Given the description of an element on the screen output the (x, y) to click on. 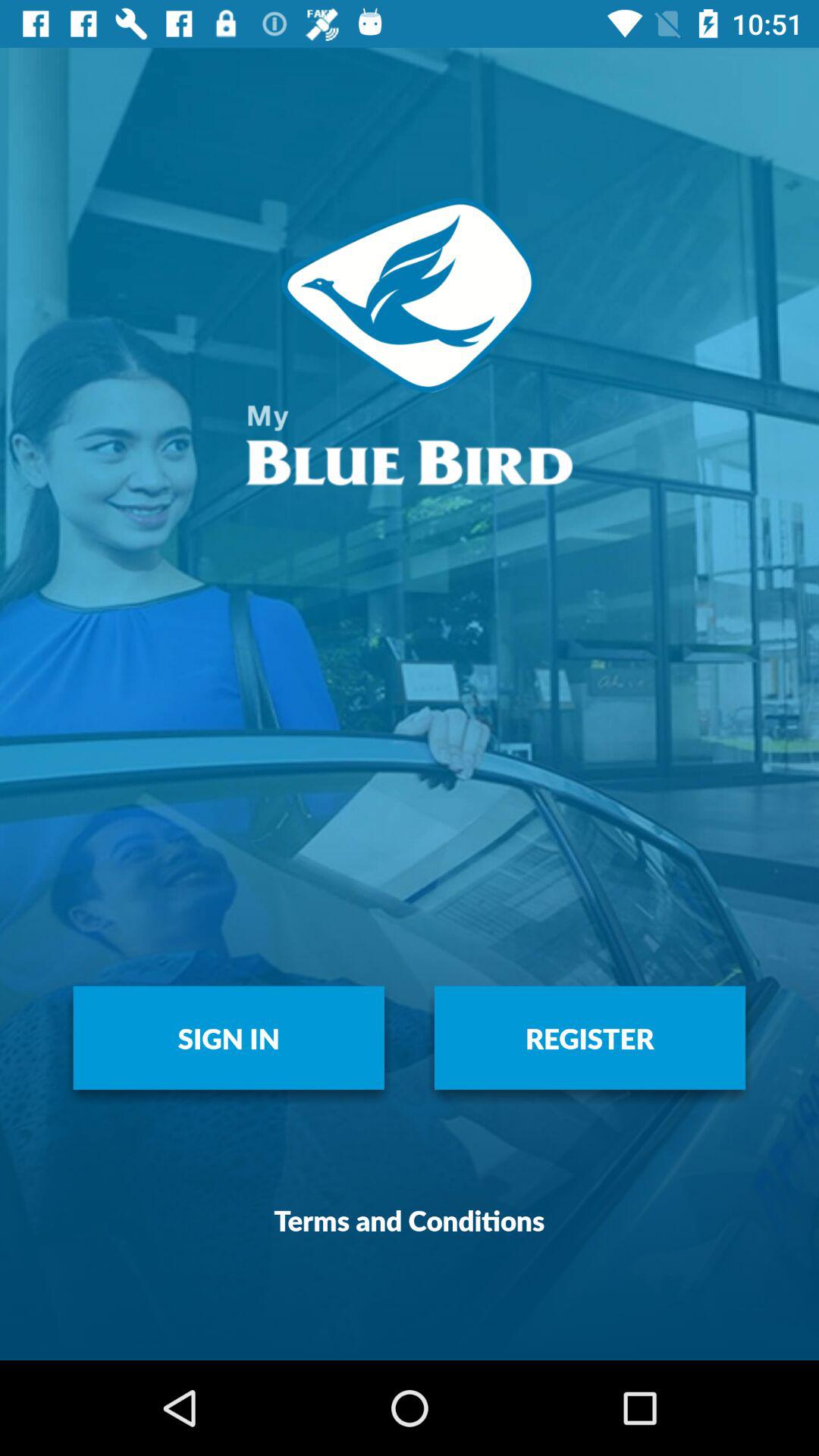
select item to the left of register (228, 1037)
